Given the description of an element on the screen output the (x, y) to click on. 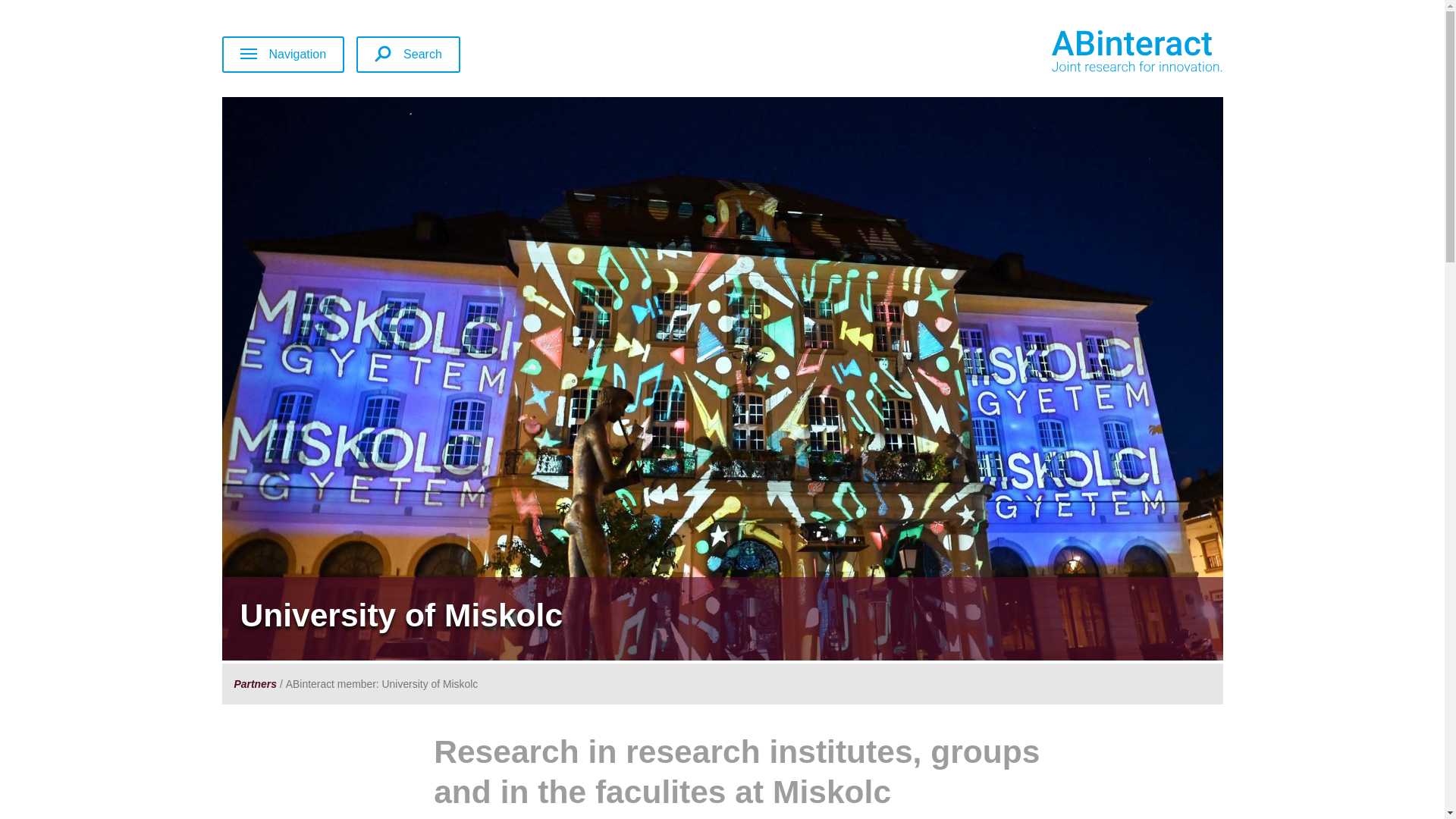
Partners (254, 684)
Search (408, 54)
Partners (254, 684)
AB interact joint research for innovation (1136, 51)
AB interact joint research for innovation (1164, 54)
